Given the description of an element on the screen output the (x, y) to click on. 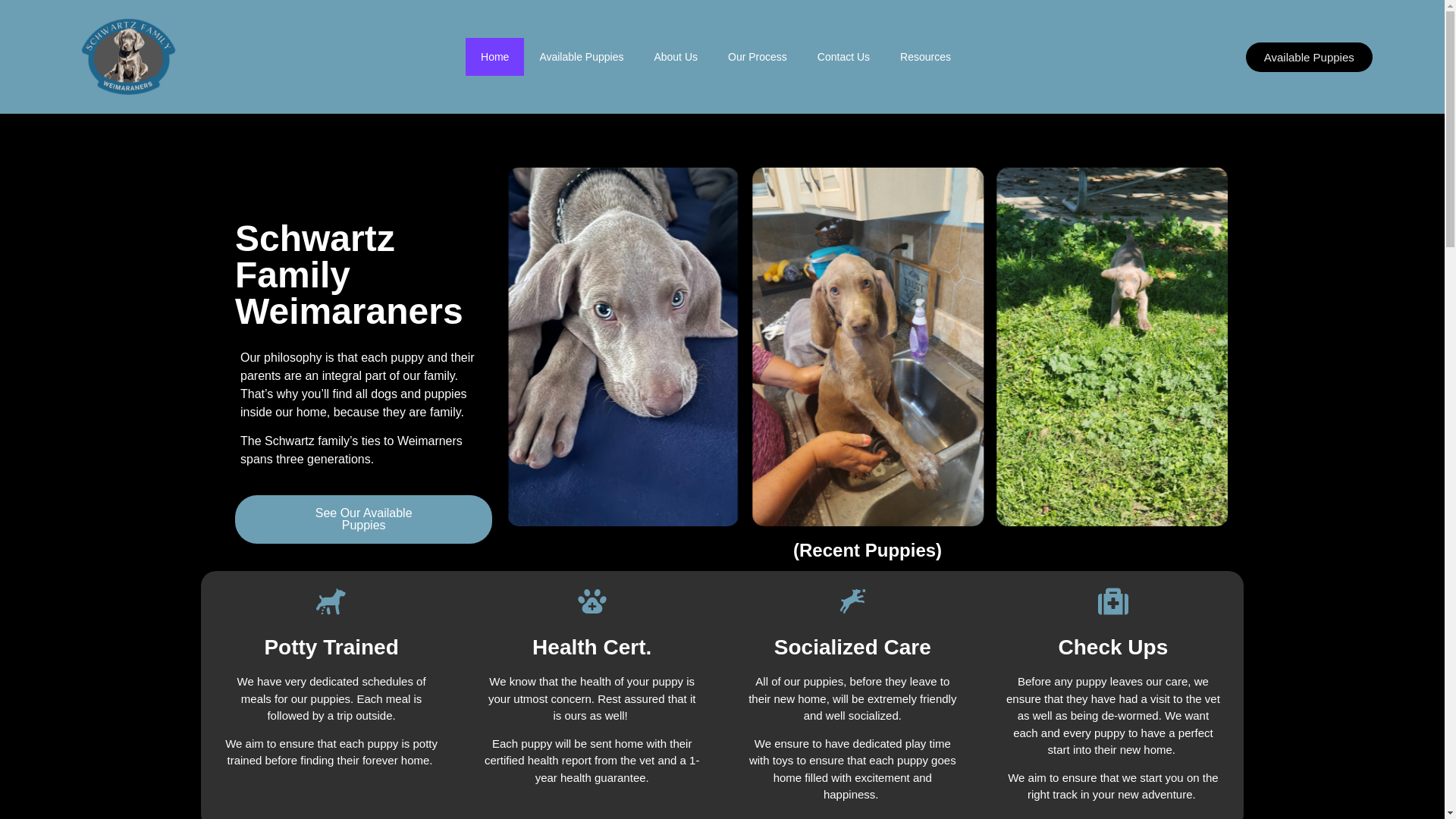
Contact Us (843, 56)
Resources (925, 56)
Available Puppies (1309, 57)
See Our Available Puppies (363, 519)
Our Process (757, 56)
Available Puppies (581, 56)
Home (494, 56)
About Us (676, 56)
